Given the description of an element on the screen output the (x, y) to click on. 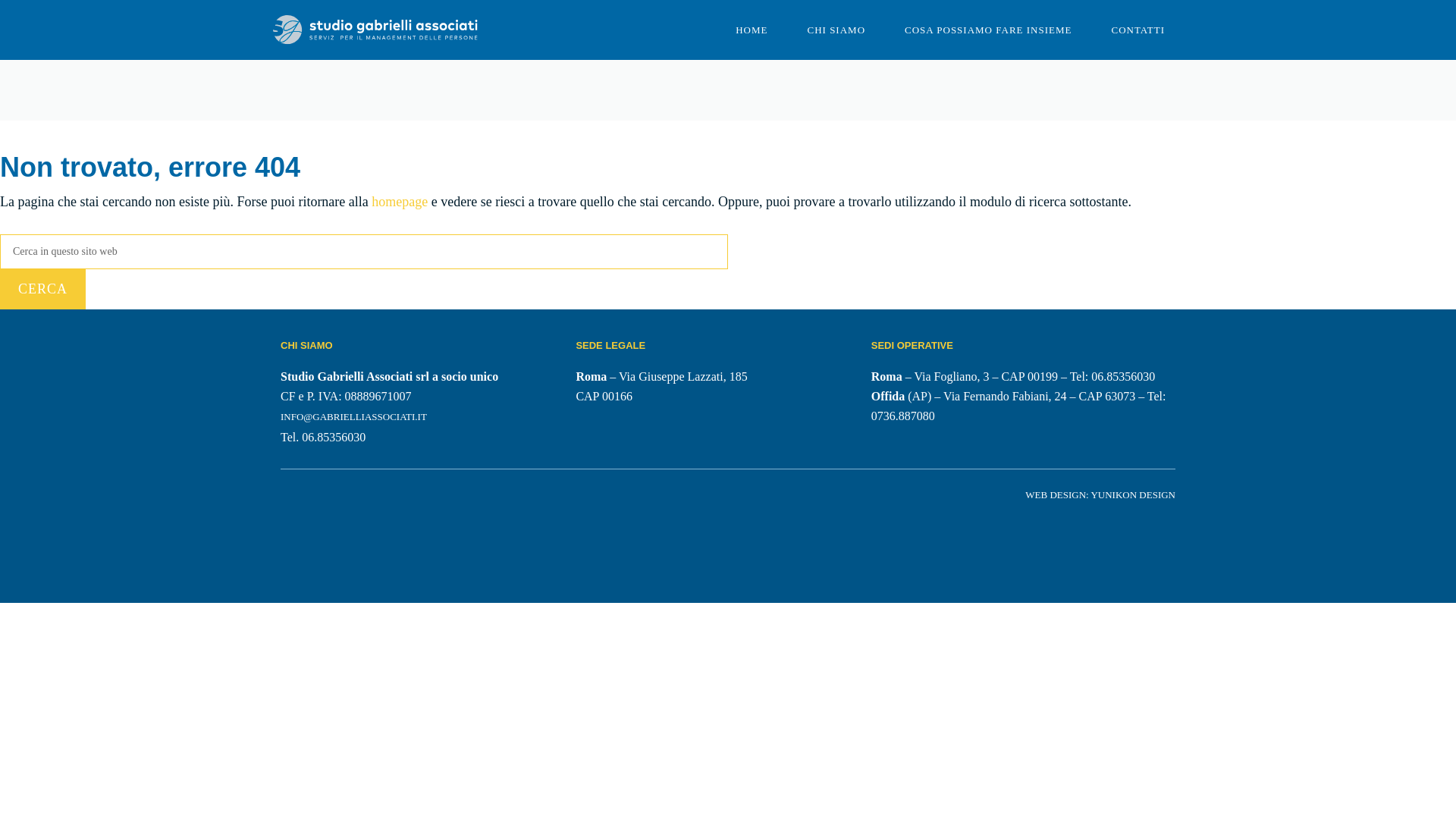
CONTATTI (1137, 29)
Cerca (42, 289)
CHI SIAMO (836, 29)
homepage (399, 201)
Gabrielli Associati (375, 29)
COSA POSSIAMO FARE INSIEME (987, 29)
Gabrielli Associati (375, 30)
WEB DESIGN: YUNIKON DESIGN (1099, 494)
HOME (751, 29)
Cerca (42, 289)
